Given the description of an element on the screen output the (x, y) to click on. 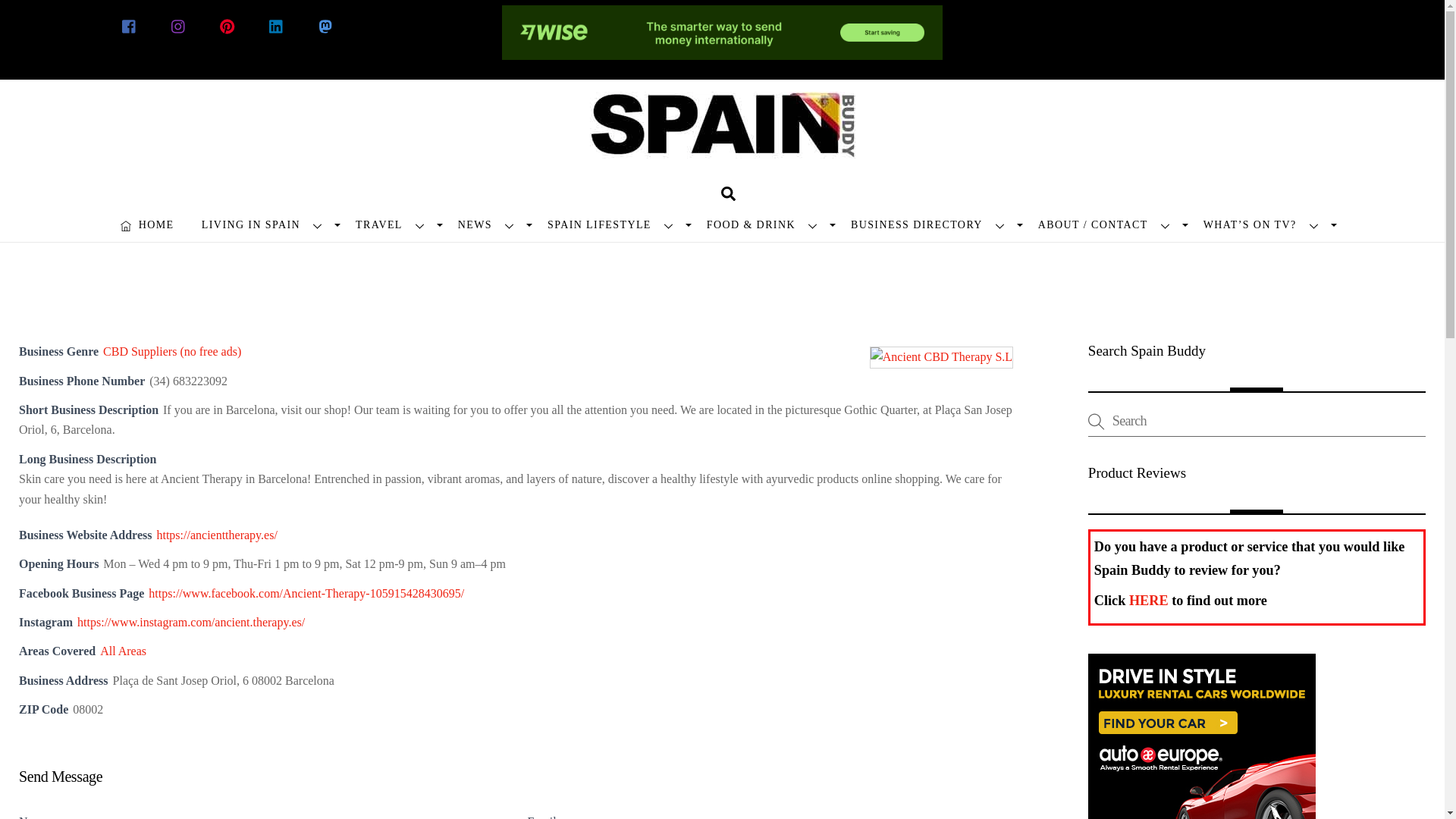
TRAVEL (392, 224)
NEWS (488, 224)
Spain Buddy (722, 137)
SPAIN LIFESTYLE (613, 224)
Ancient CBD Therapy S.L (941, 356)
HOME (146, 224)
LIVING IN SPAIN (264, 224)
Search (1256, 420)
Search (727, 192)
